Given the description of an element on the screen output the (x, y) to click on. 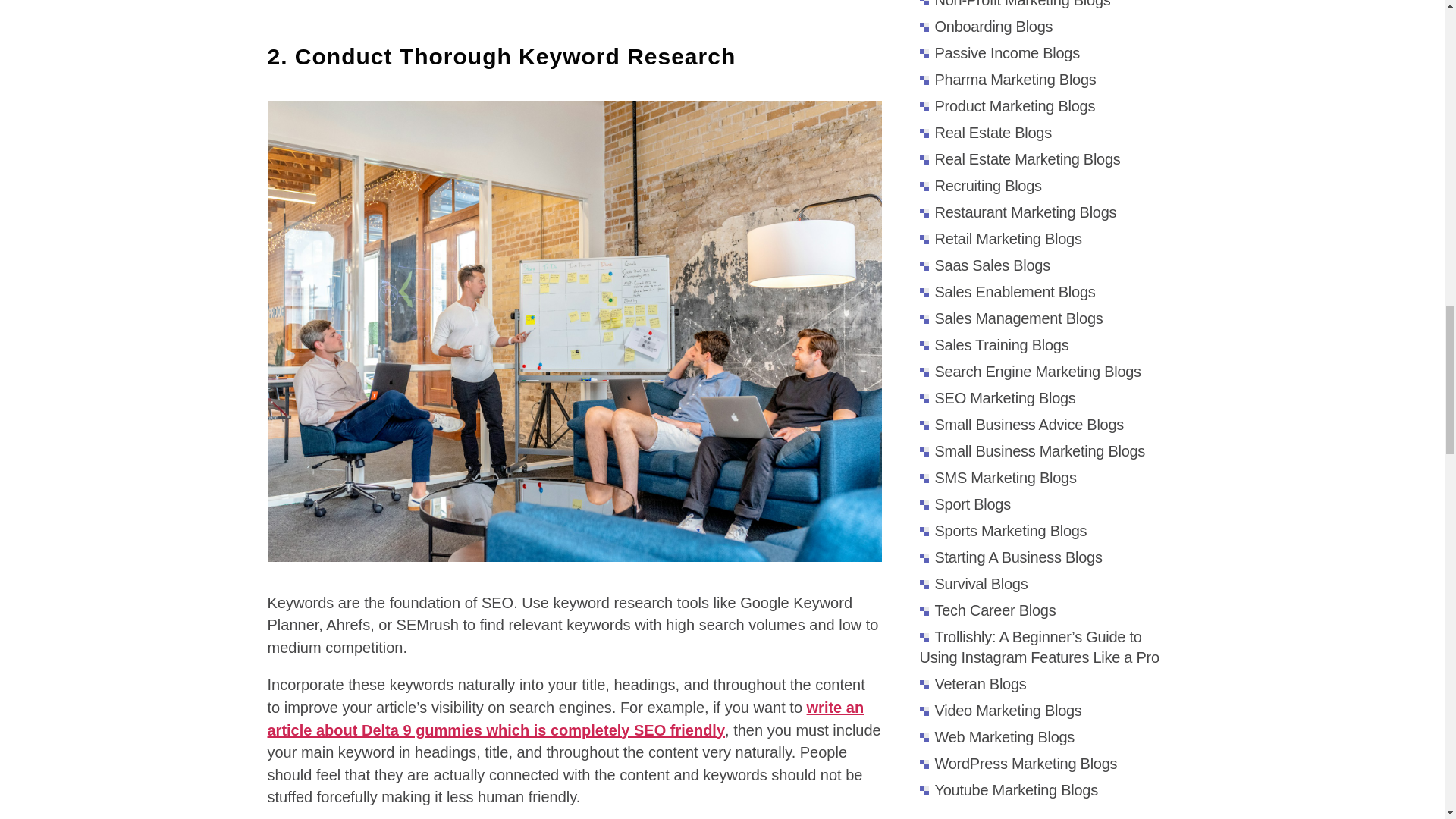
Delta 9 gummies (421, 729)
write an article about (564, 718)
which is completely SEO friendly (603, 729)
